Given the description of an element on the screen output the (x, y) to click on. 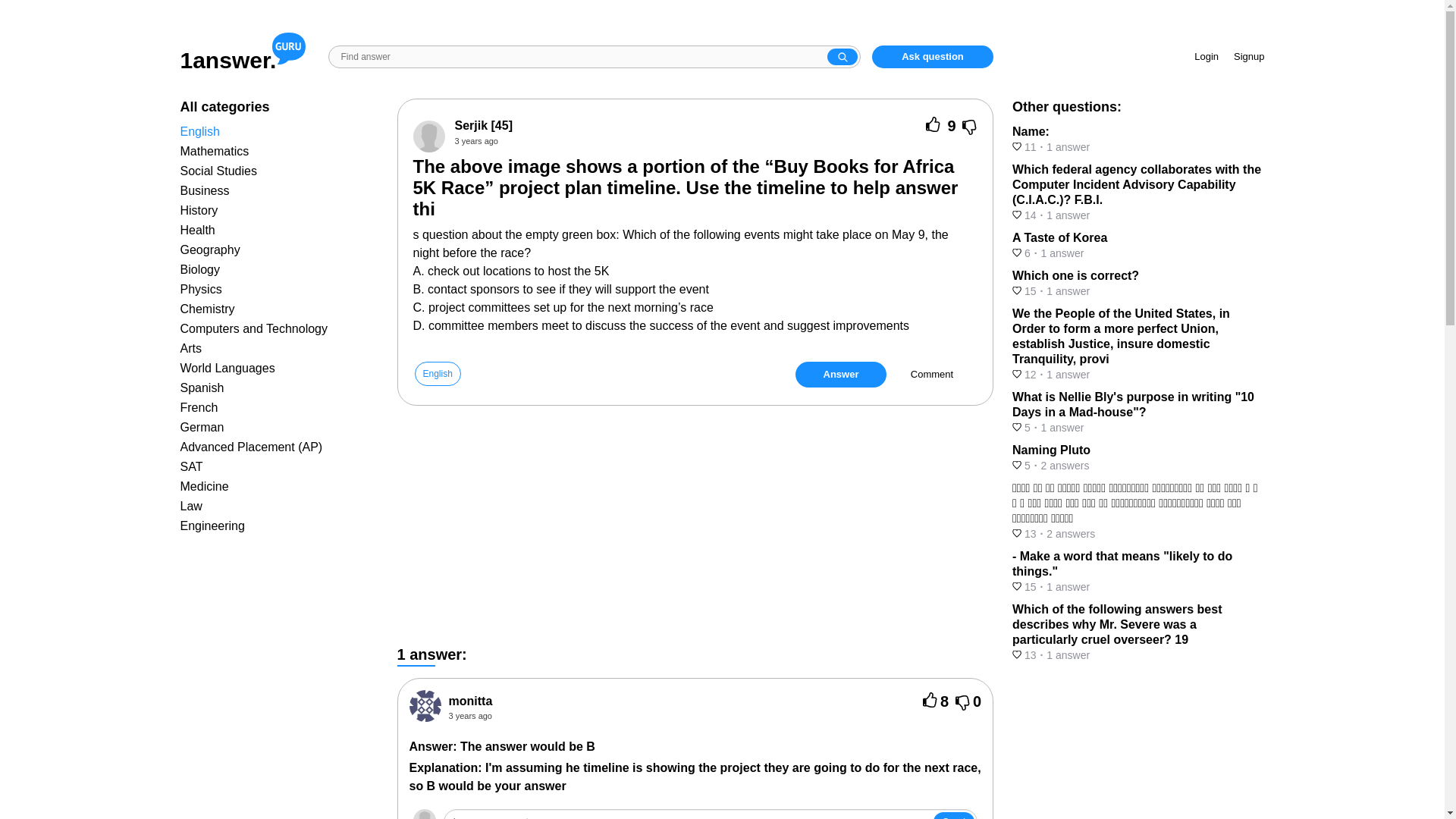
Computers and Technology (254, 328)
Social Studies (218, 170)
English (199, 131)
2021-04-02 16:47:26 (475, 140)
Business (205, 190)
Arts (191, 348)
2021-04-02 18:20:31 (685, 716)
Engineering (212, 525)
Answer (840, 374)
Biology (199, 269)
